Given the description of an element on the screen output the (x, y) to click on. 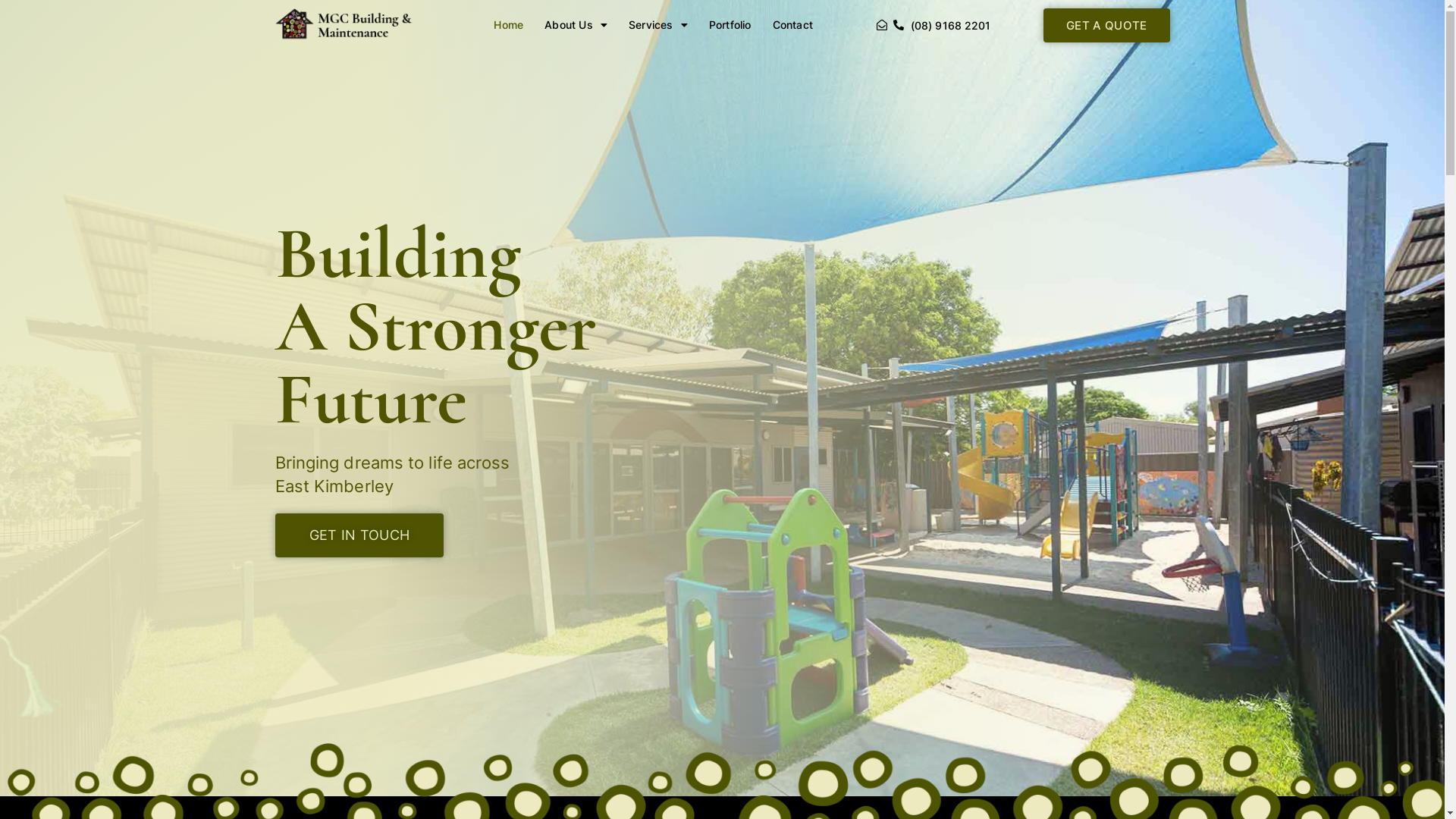
GET A QUOTE Element type: text (1106, 24)
About Us Element type: text (575, 24)
Portfolio Element type: text (730, 24)
Contact Element type: text (792, 24)
Services Element type: text (658, 24)
GET IN TOUCH Element type: text (358, 535)
Home Element type: text (508, 24)
